Given the description of an element on the screen output the (x, y) to click on. 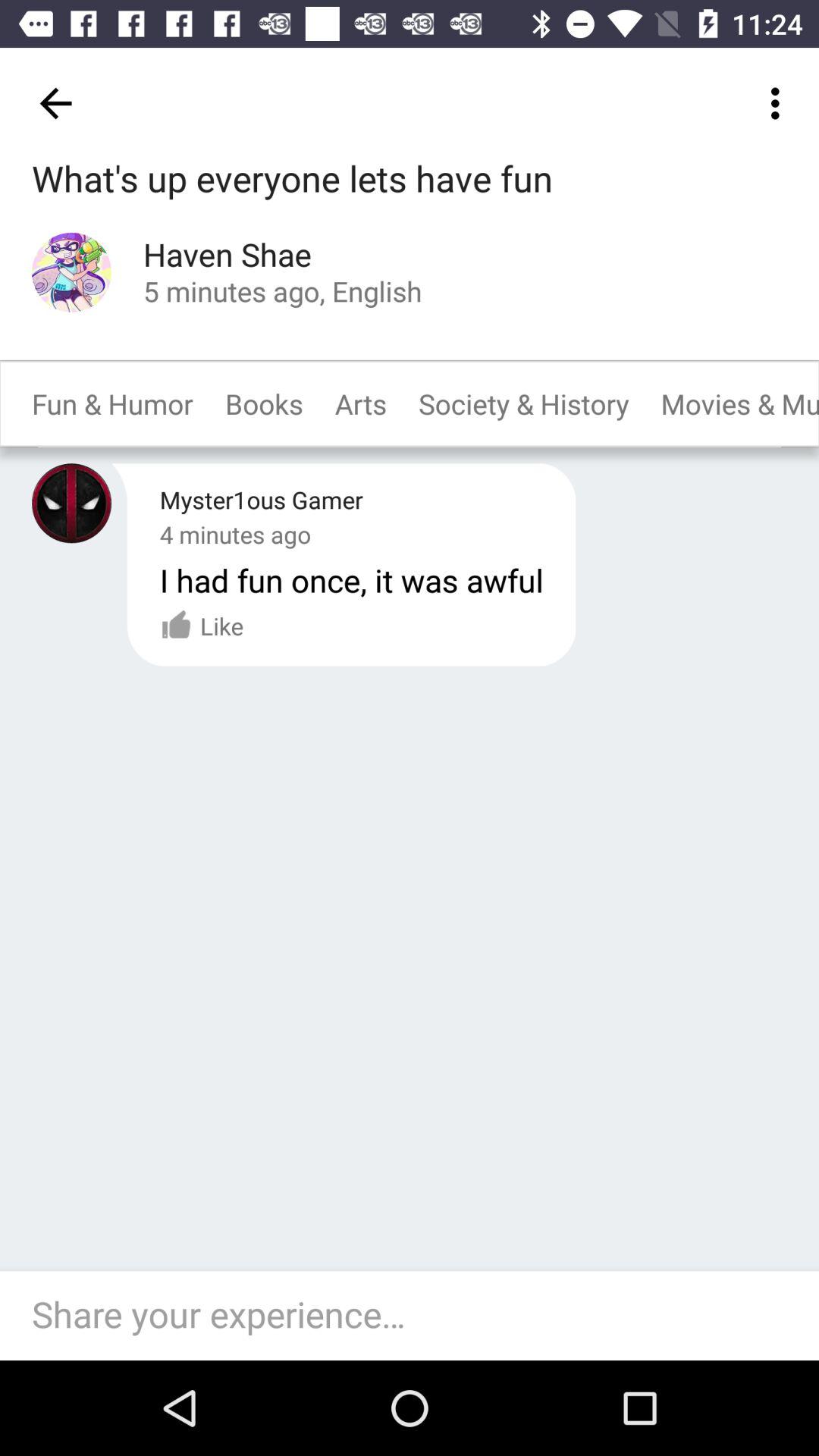
this is the profile icon of the user (71, 503)
